Given the description of an element on the screen output the (x, y) to click on. 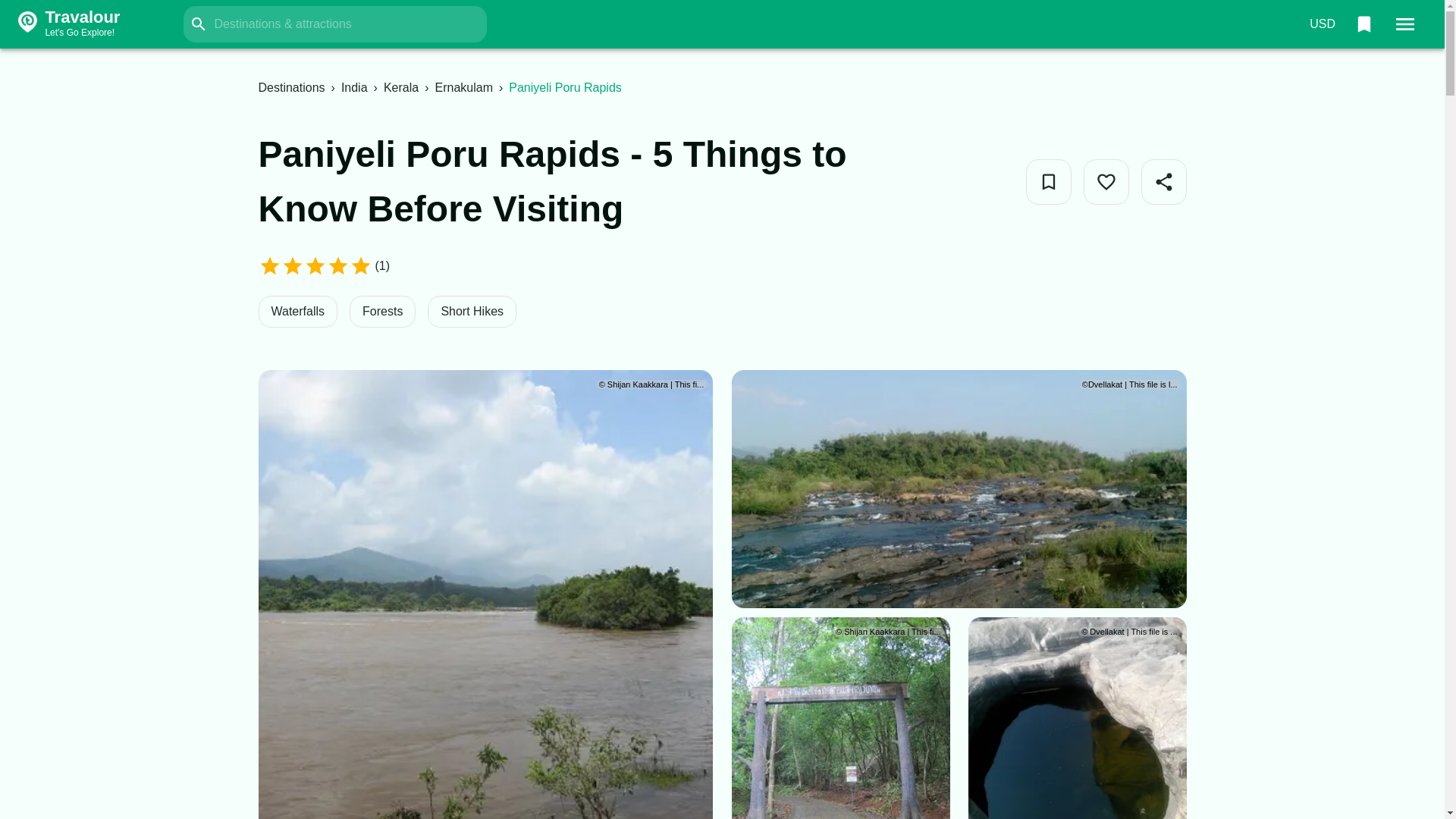
0 (1363, 24)
Destinations (290, 87)
USD (1321, 23)
Like (1105, 181)
India (354, 87)
Ernakulam (462, 87)
Add to Bucket List (1047, 181)
Kerala (97, 23)
Share (401, 87)
